Given the description of an element on the screen output the (x, y) to click on. 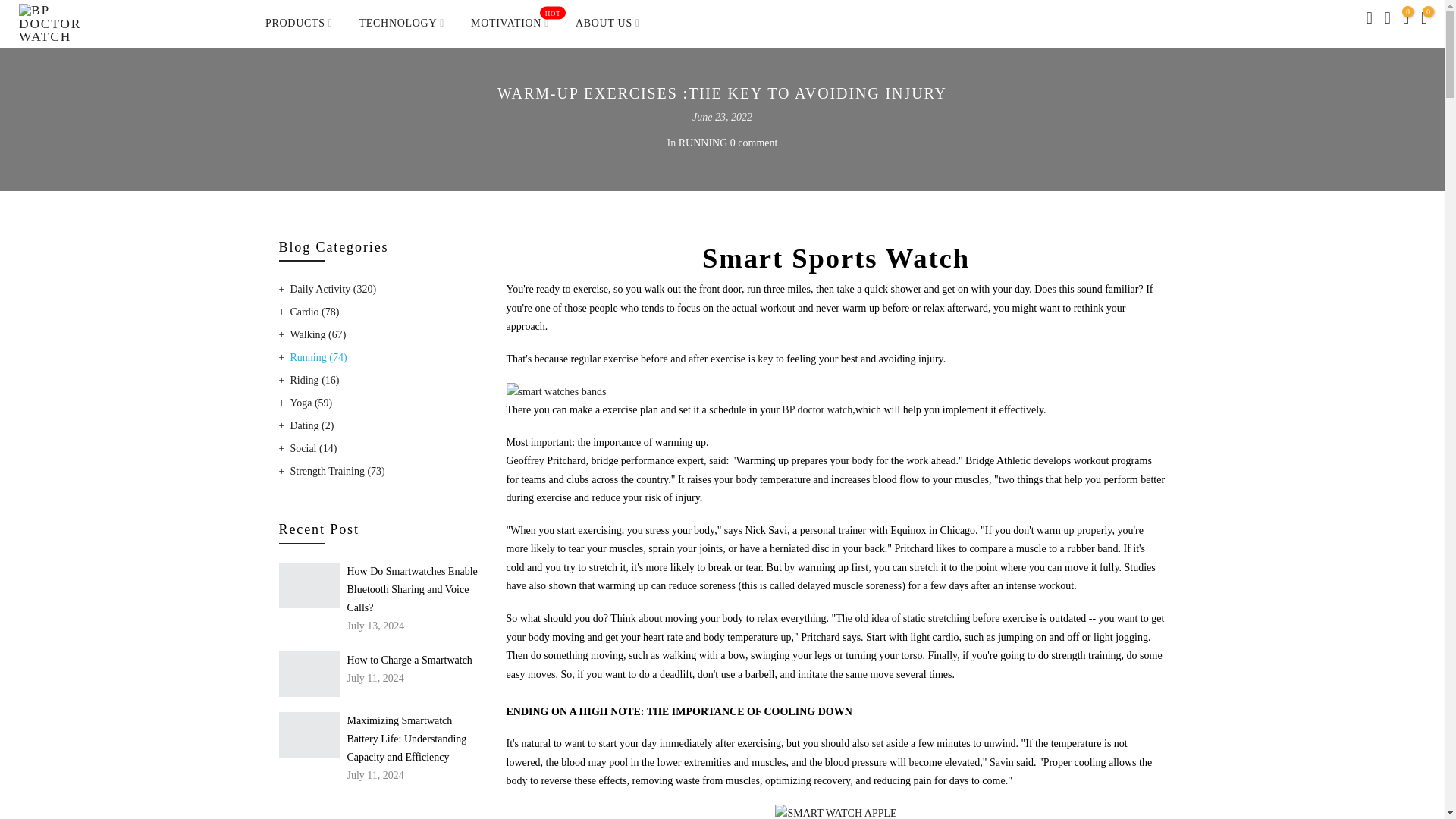
ABOUT US (607, 22)
0 comment (753, 142)
RUNNING (703, 142)
TECHNOLOGY (401, 22)
0 (1405, 19)
best health smart watches (510, 22)
PRODUCTS (835, 813)
How to Charge a Smartwatch (298, 22)
